Given the description of an element on the screen output the (x, y) to click on. 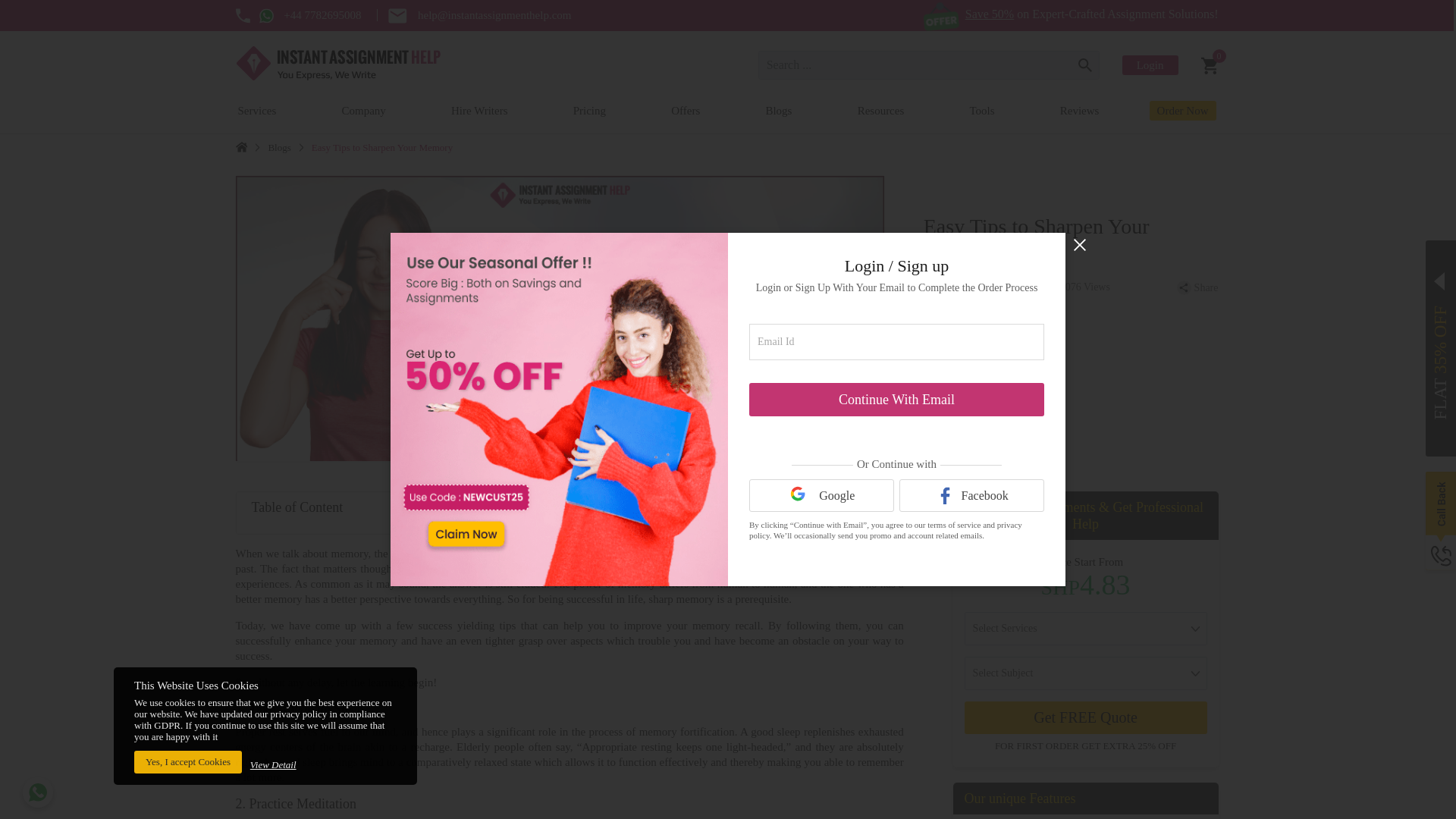
Login (1149, 65)
Home (240, 146)
Yes, I accept Cookies (187, 762)
0 (1209, 64)
Close (1079, 244)
